Given the description of an element on the screen output the (x, y) to click on. 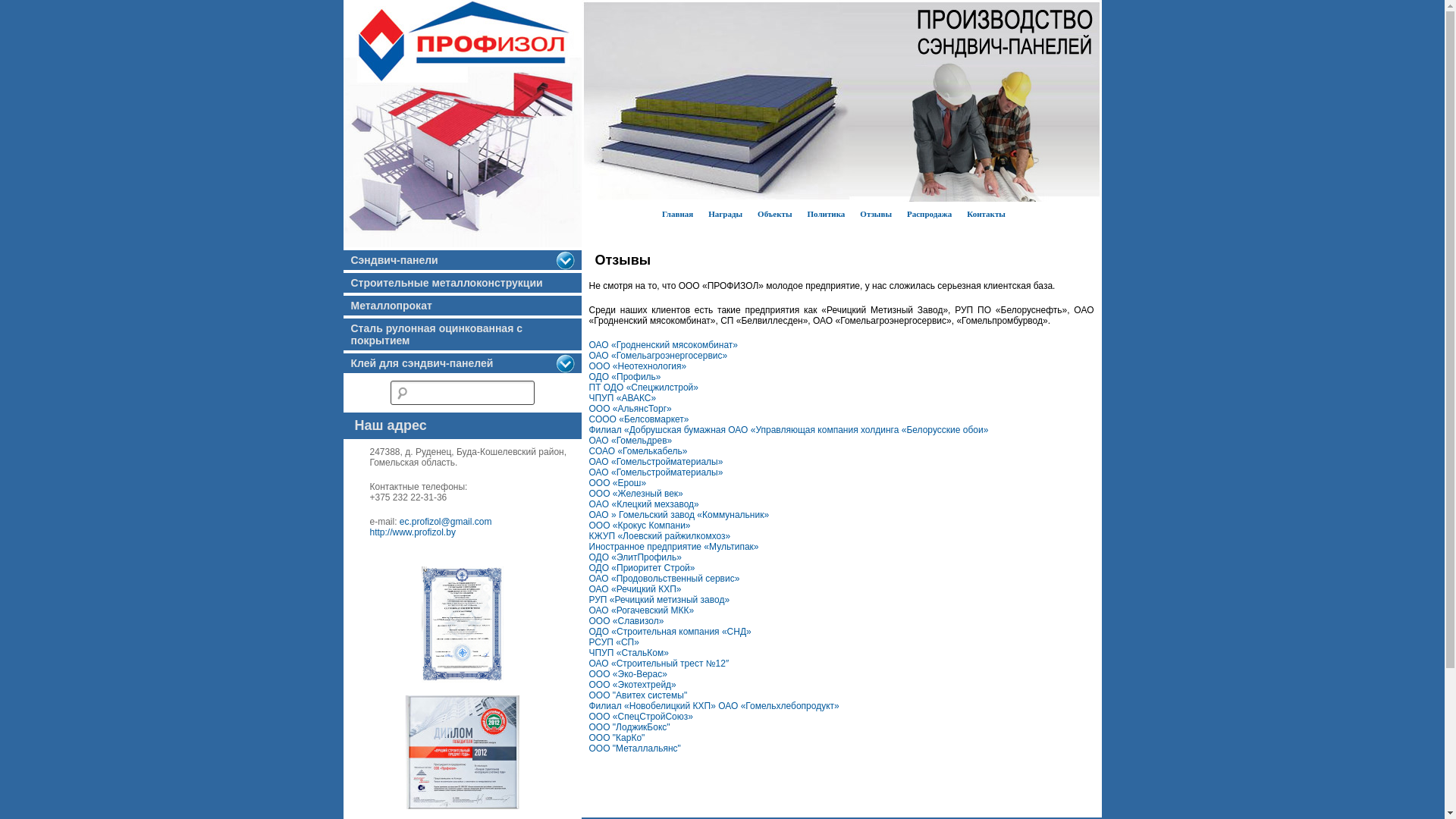
http://www.profizol.by Element type: text (412, 532)
ec.profizol@gmail.com Element type: text (445, 521)
